Given the description of an element on the screen output the (x, y) to click on. 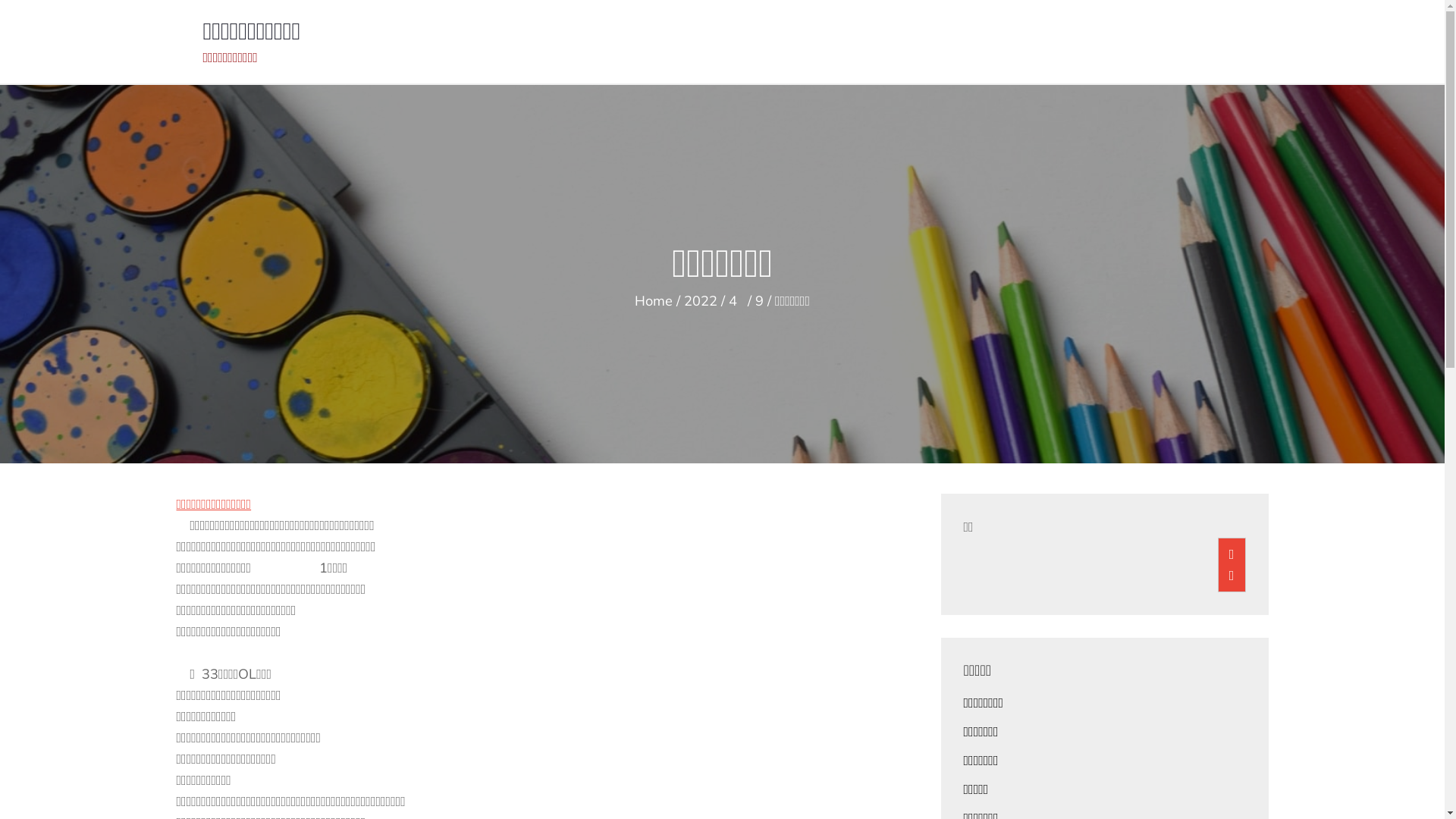
Home Element type: text (653, 300)
2022 Element type: text (700, 300)
9 Element type: text (759, 300)
